Given the description of an element on the screen output the (x, y) to click on. 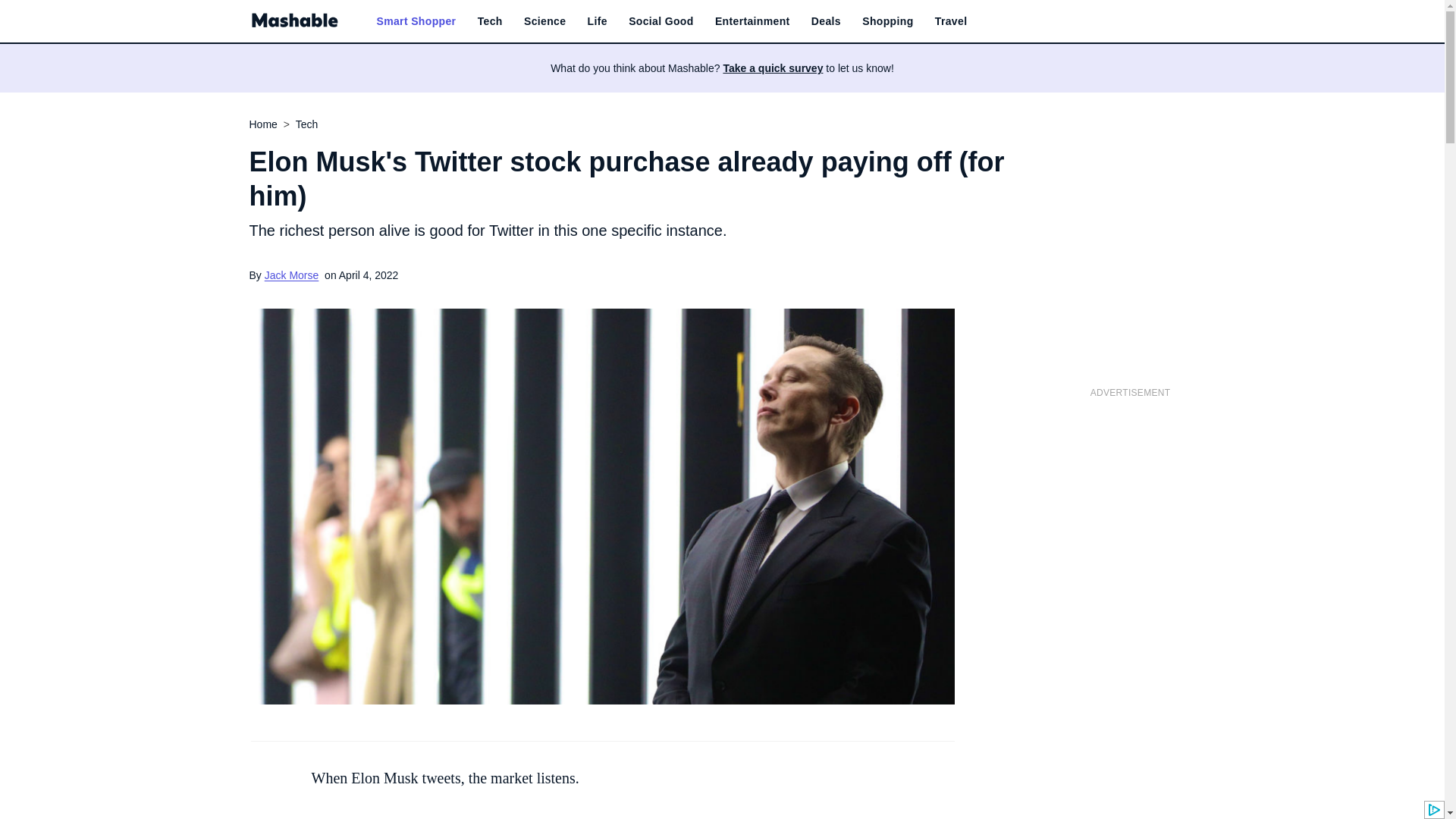
Deals (825, 21)
Life (597, 21)
Shopping (886, 21)
Smart Shopper (415, 21)
Entertainment (752, 21)
Social Good (661, 21)
Science (545, 21)
Tech (489, 21)
Travel (951, 21)
